Given the description of an element on the screen output the (x, y) to click on. 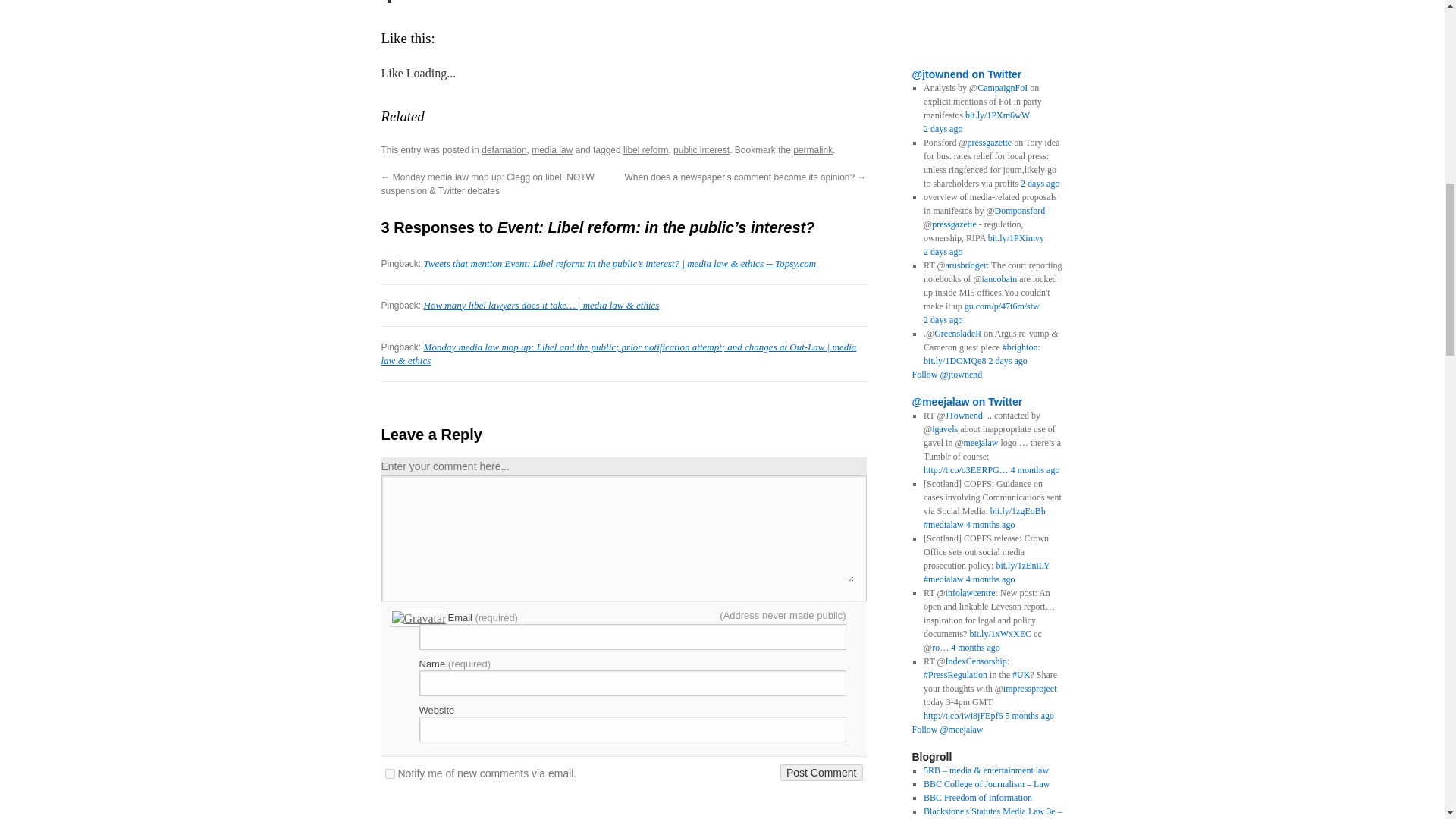
permalink (812, 149)
subscribe (389, 773)
media law (551, 149)
libel reform (645, 149)
public interest (700, 149)
defamation (503, 149)
Post Comment (821, 772)
